Given the description of an element on the screen output the (x, y) to click on. 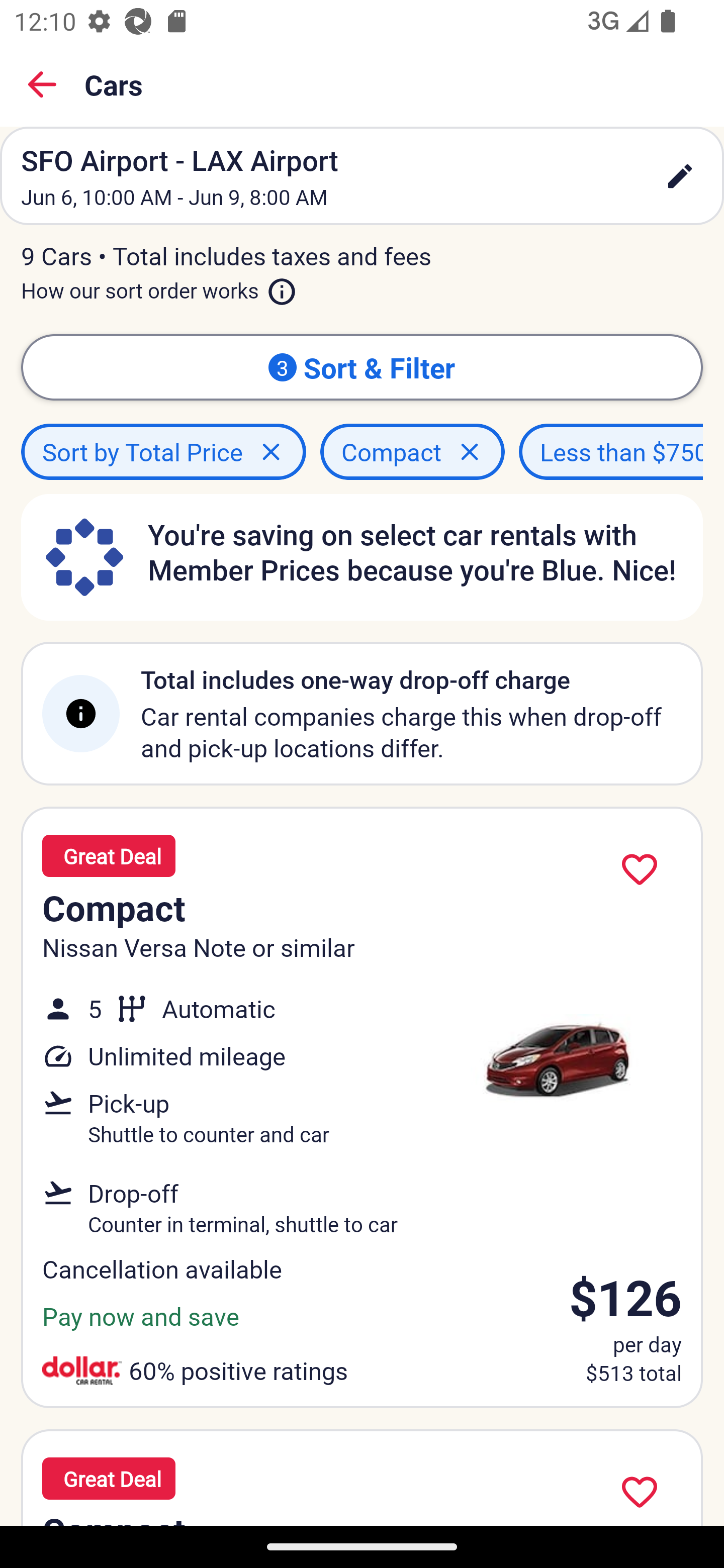
Back (42, 84)
edit (679, 175)
How our sort order works (158, 286)
3 Sort & Filter (361, 366)
